Given the description of an element on the screen output the (x, y) to click on. 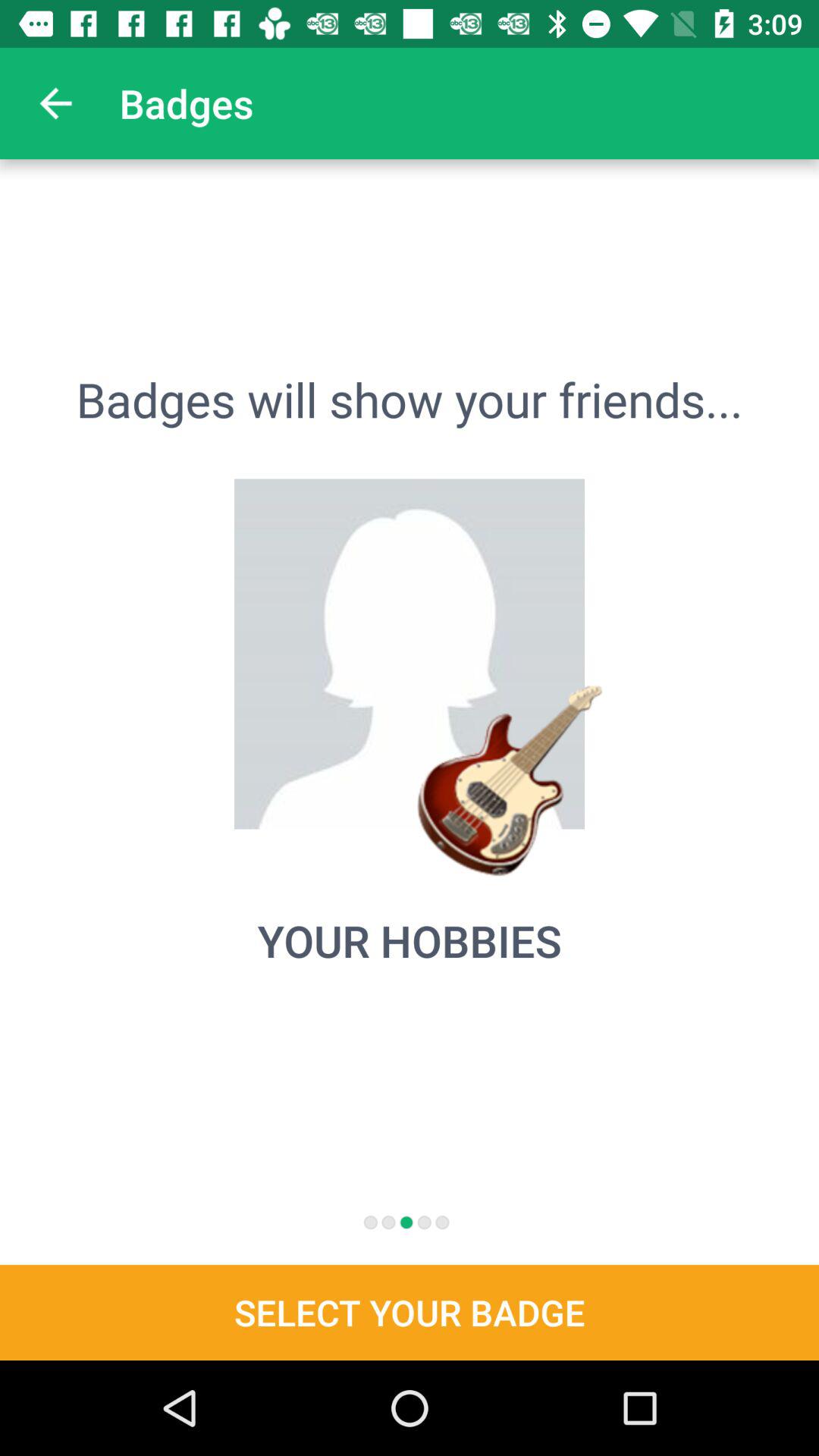
turn on the select your badge item (409, 1312)
